Given the description of an element on the screen output the (x, y) to click on. 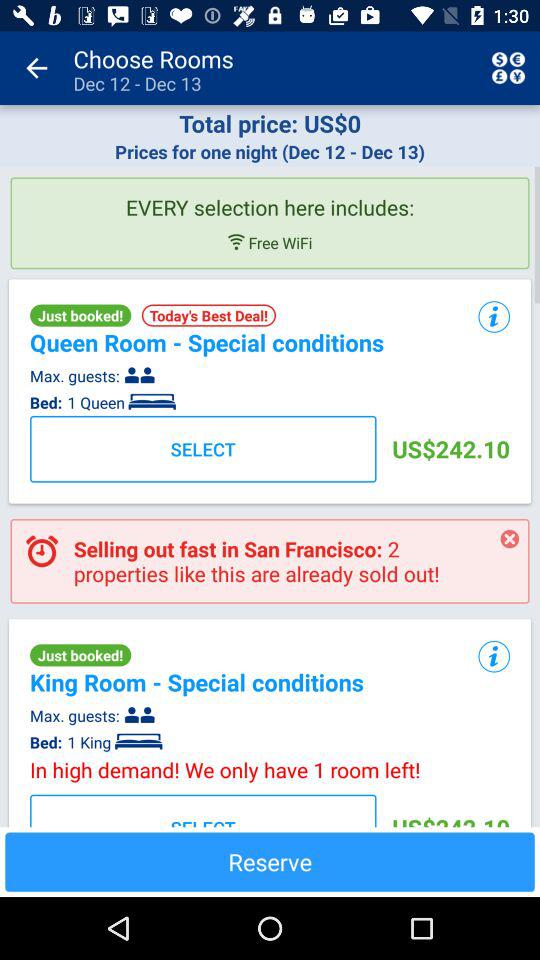
press every selection here item (269, 199)
